Given the description of an element on the screen output the (x, y) to click on. 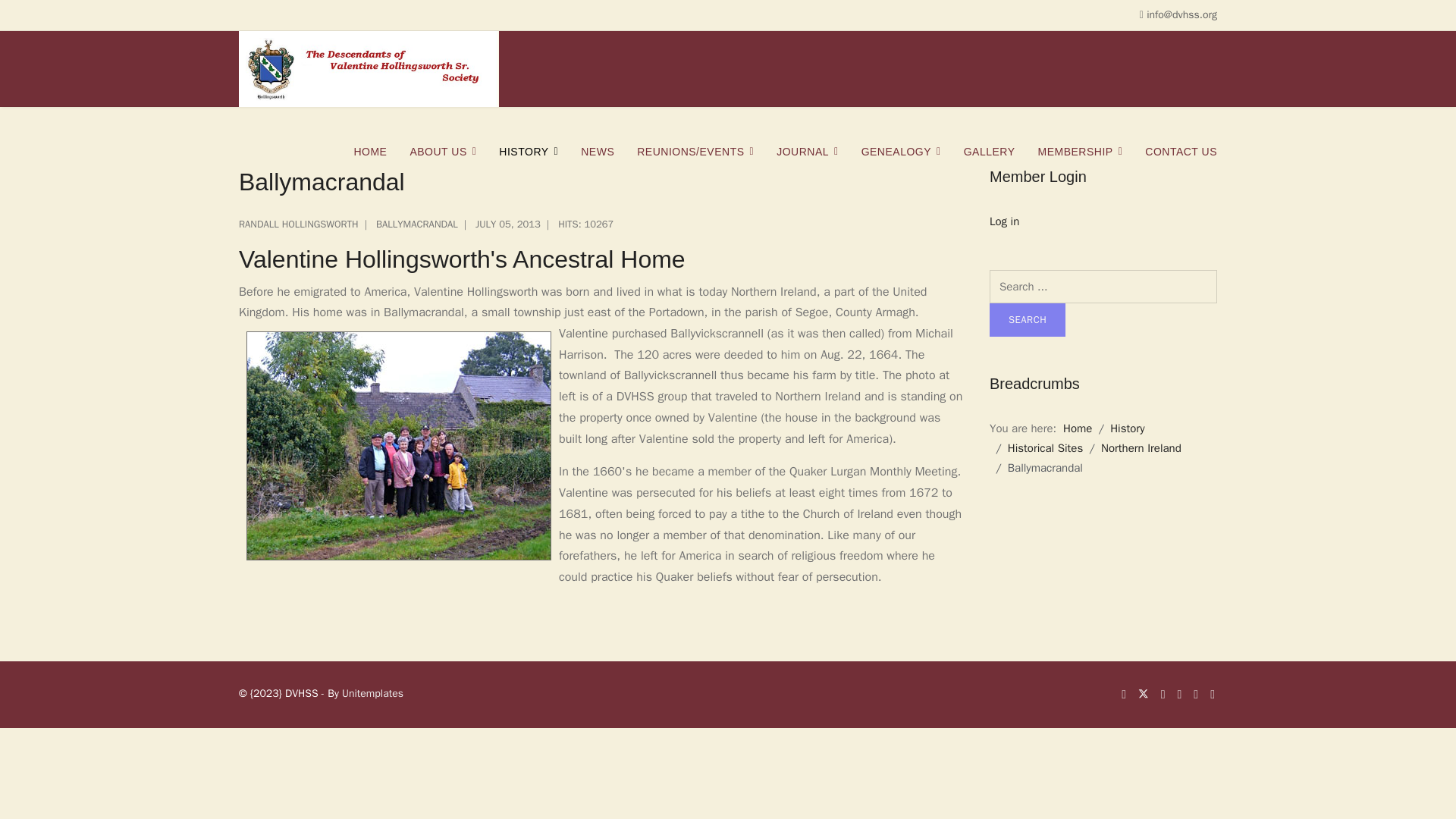
Published: July 05, 2013 (499, 224)
HISTORY (528, 151)
ABOUT US (442, 151)
Written by: Randall Hollingsworth (298, 224)
Category: Ballymacrandal (408, 224)
DVHSS Group at Ballymacrandal (398, 445)
